Given the description of an element on the screen output the (x, y) to click on. 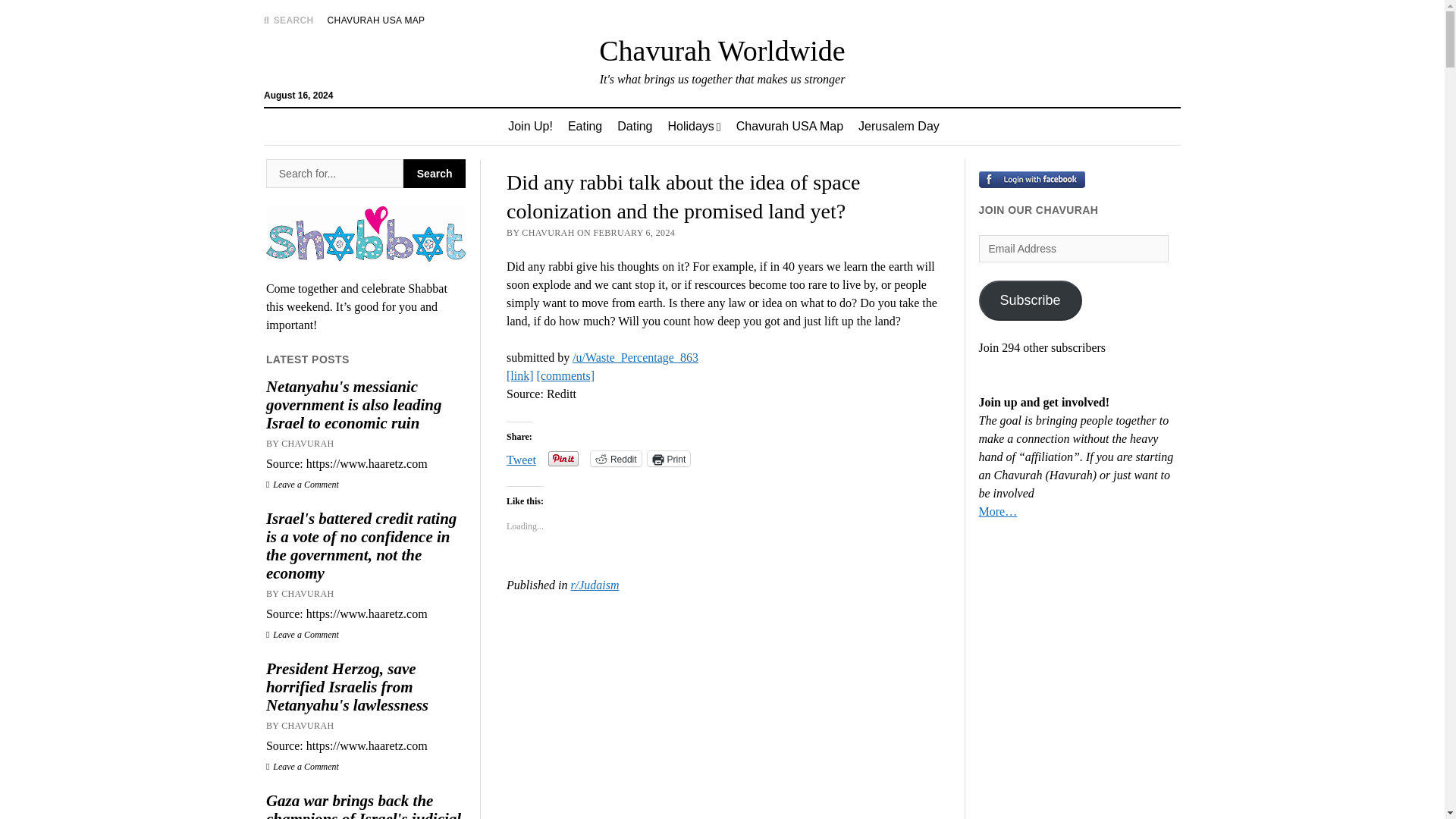
Leave a Comment (302, 766)
Jerusalem Day (898, 126)
Advertisement (721, 715)
Join Up! (530, 126)
Holidays (693, 126)
CHAVURAH USA MAP (376, 20)
Eating (585, 126)
Leave a Comment (302, 484)
Search (945, 129)
